Given the description of an element on the screen output the (x, y) to click on. 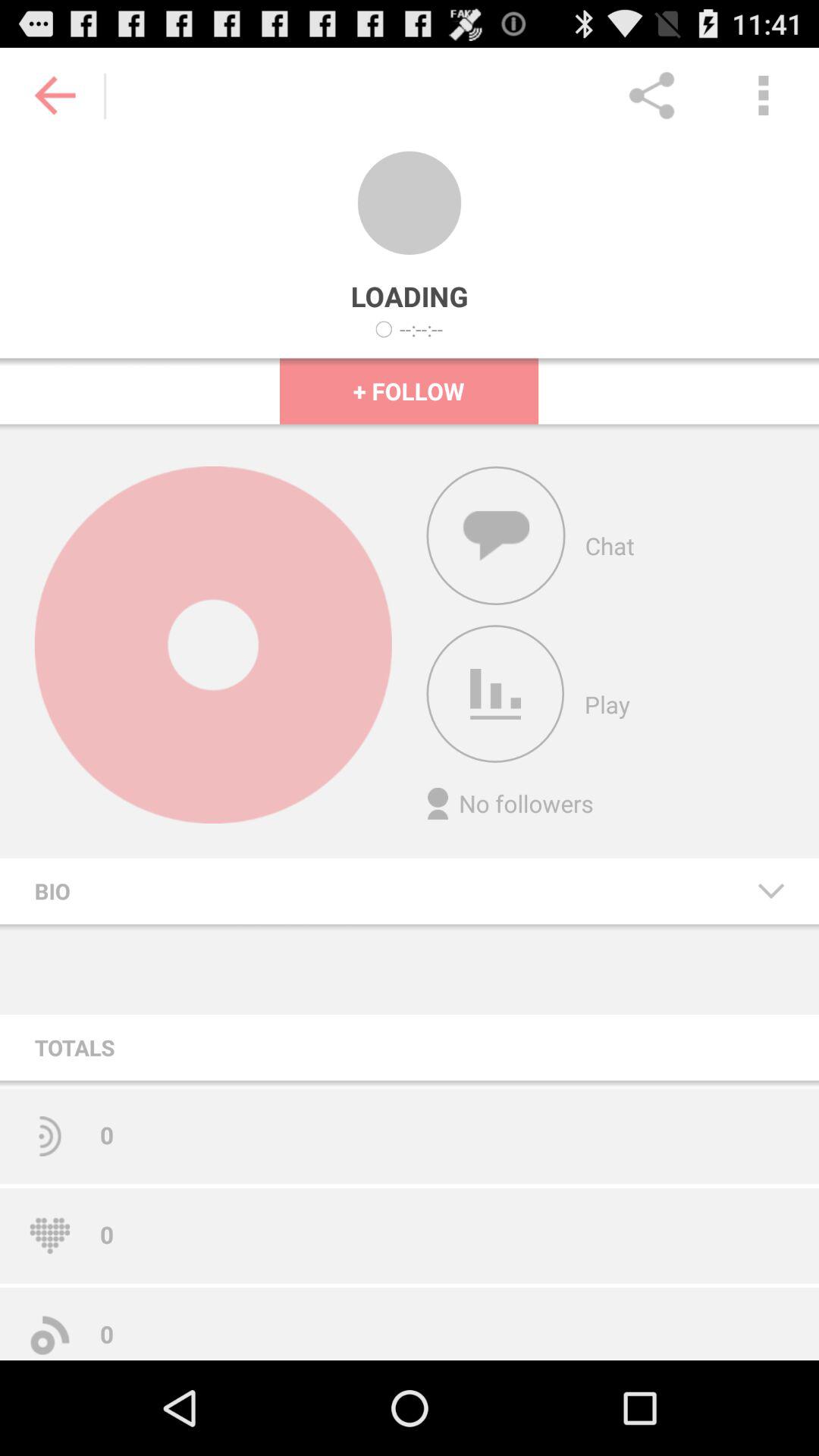
turn off item to the left of the chat icon (495, 535)
